Given the description of an element on the screen output the (x, y) to click on. 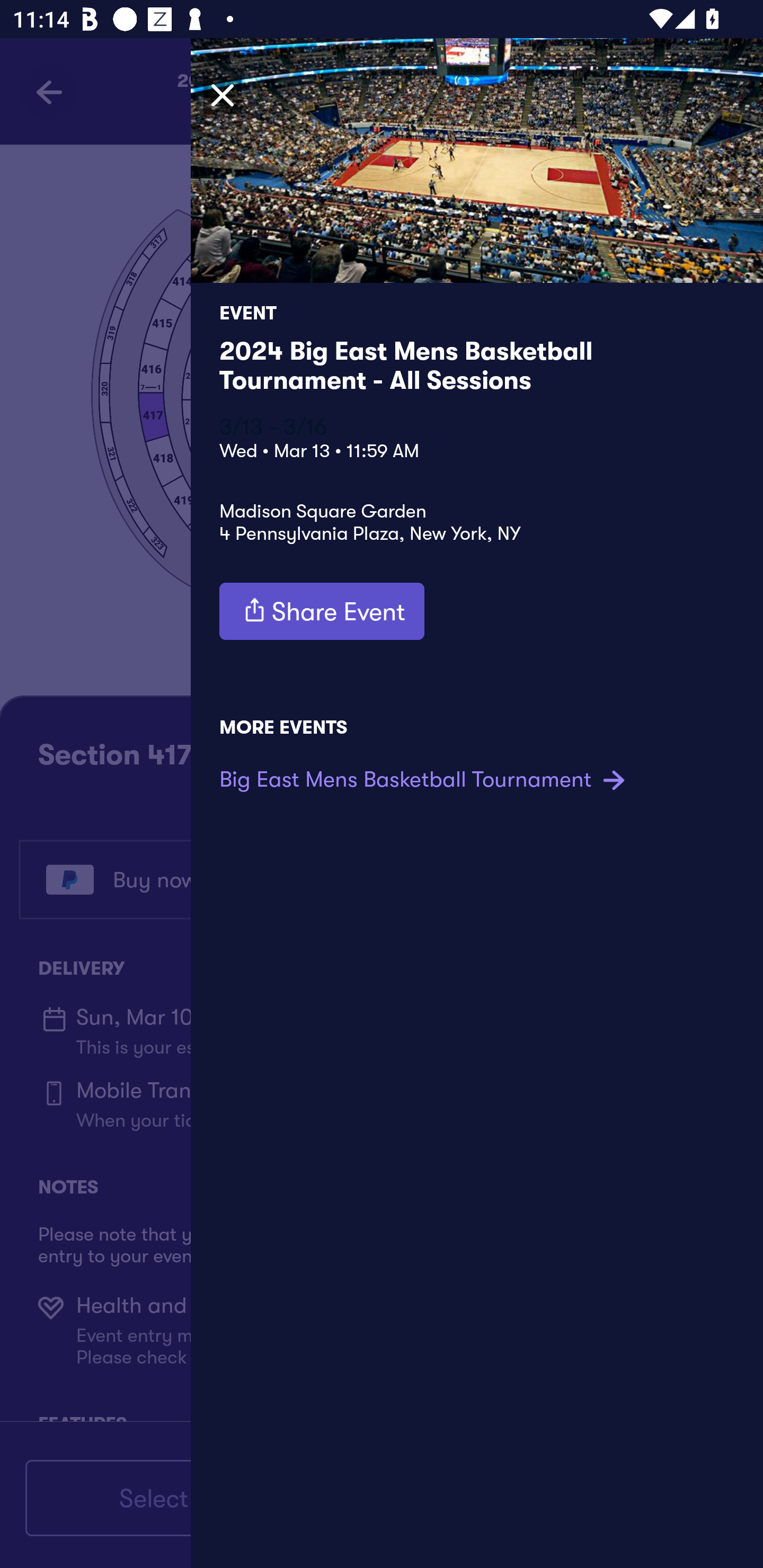
Share Event (321, 611)
Big East Mens Basketball Tournament (424, 778)
